Given the description of an element on the screen output the (x, y) to click on. 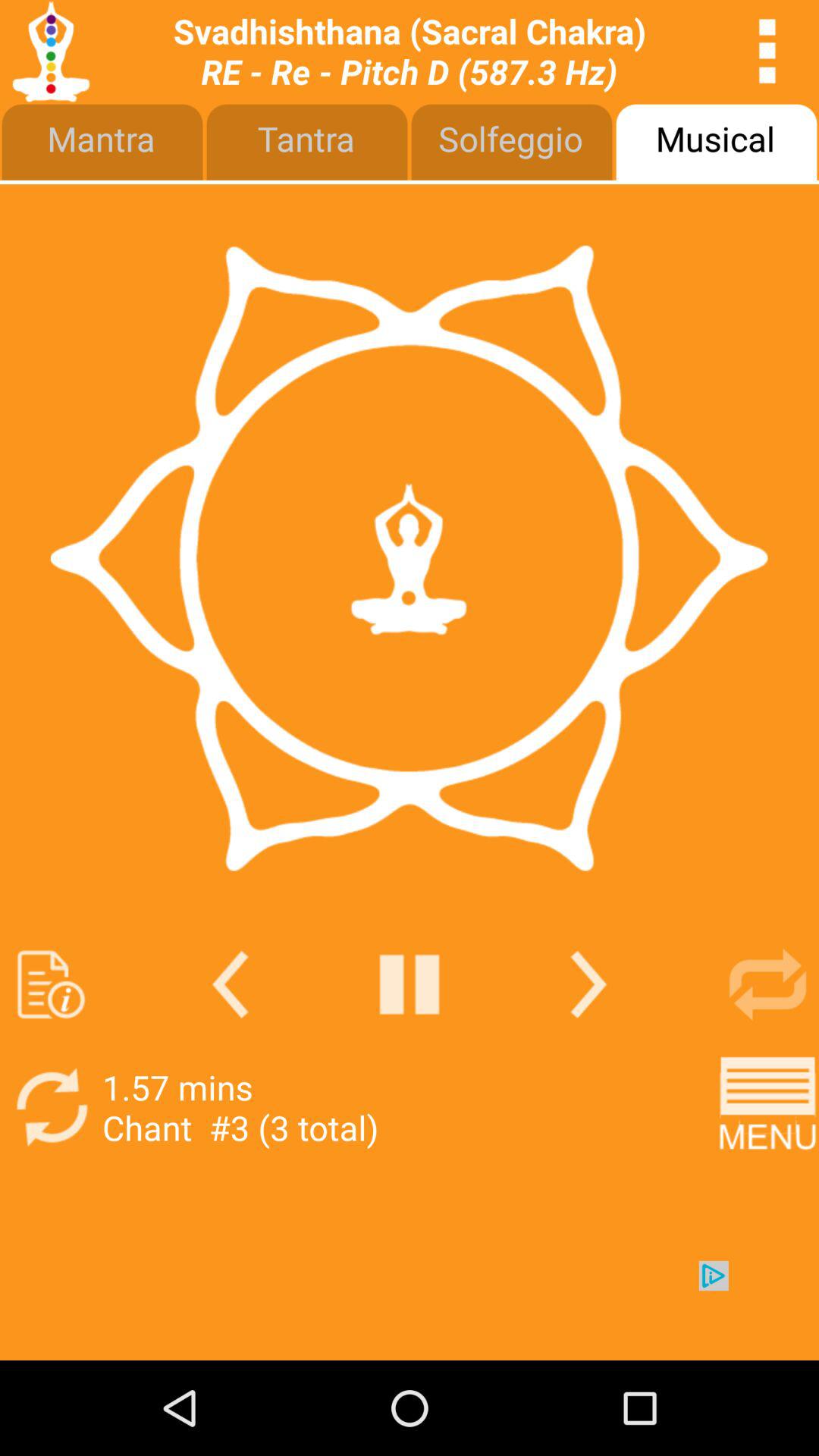
go back button option (409, 984)
